Given the description of an element on the screen output the (x, y) to click on. 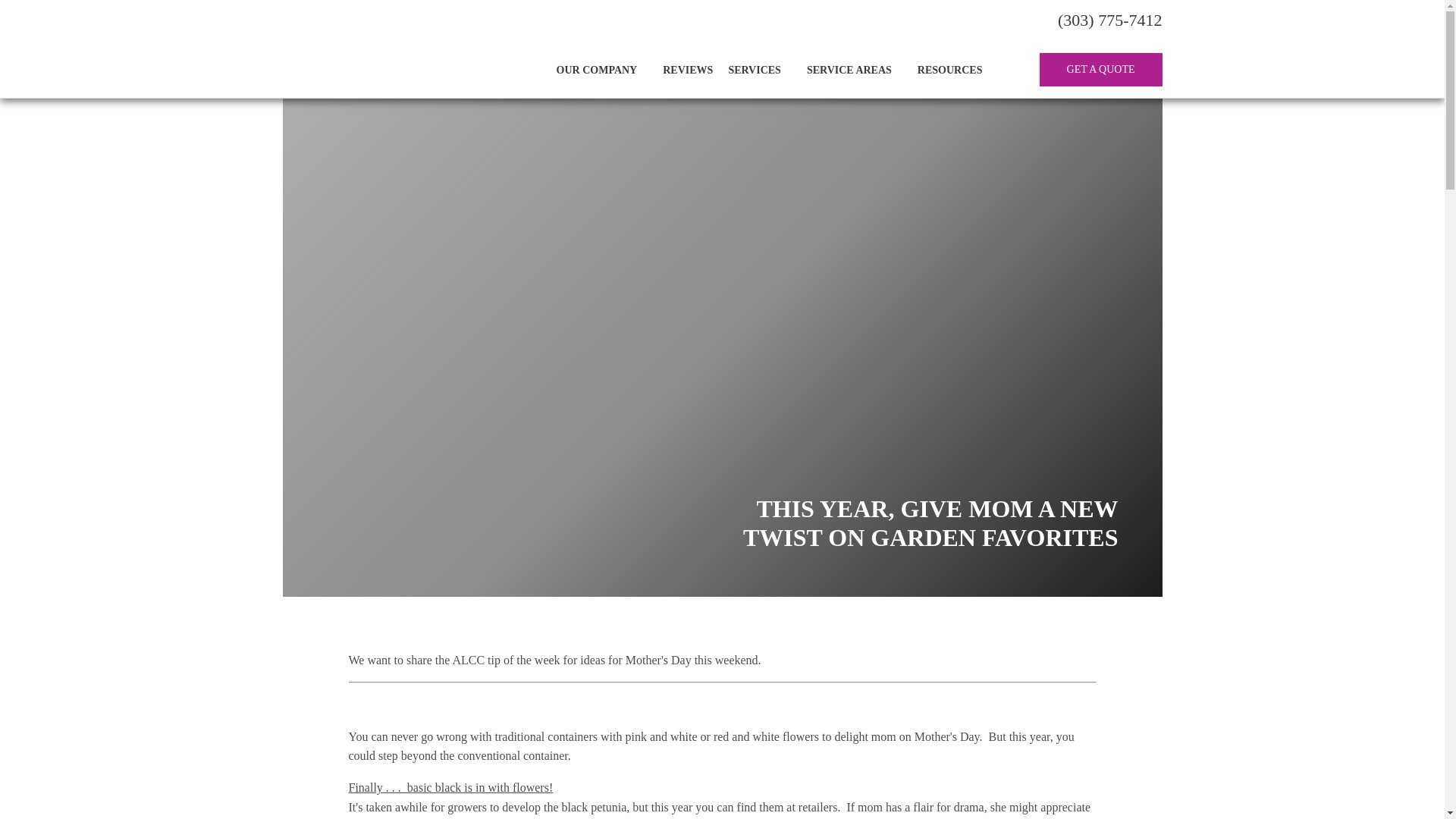
OUR COMPANY (602, 69)
REVIEWS (687, 69)
SERVICE AREAS (854, 69)
SERVICES (759, 69)
RESOURCES (955, 69)
